Given the description of an element on the screen output the (x, y) to click on. 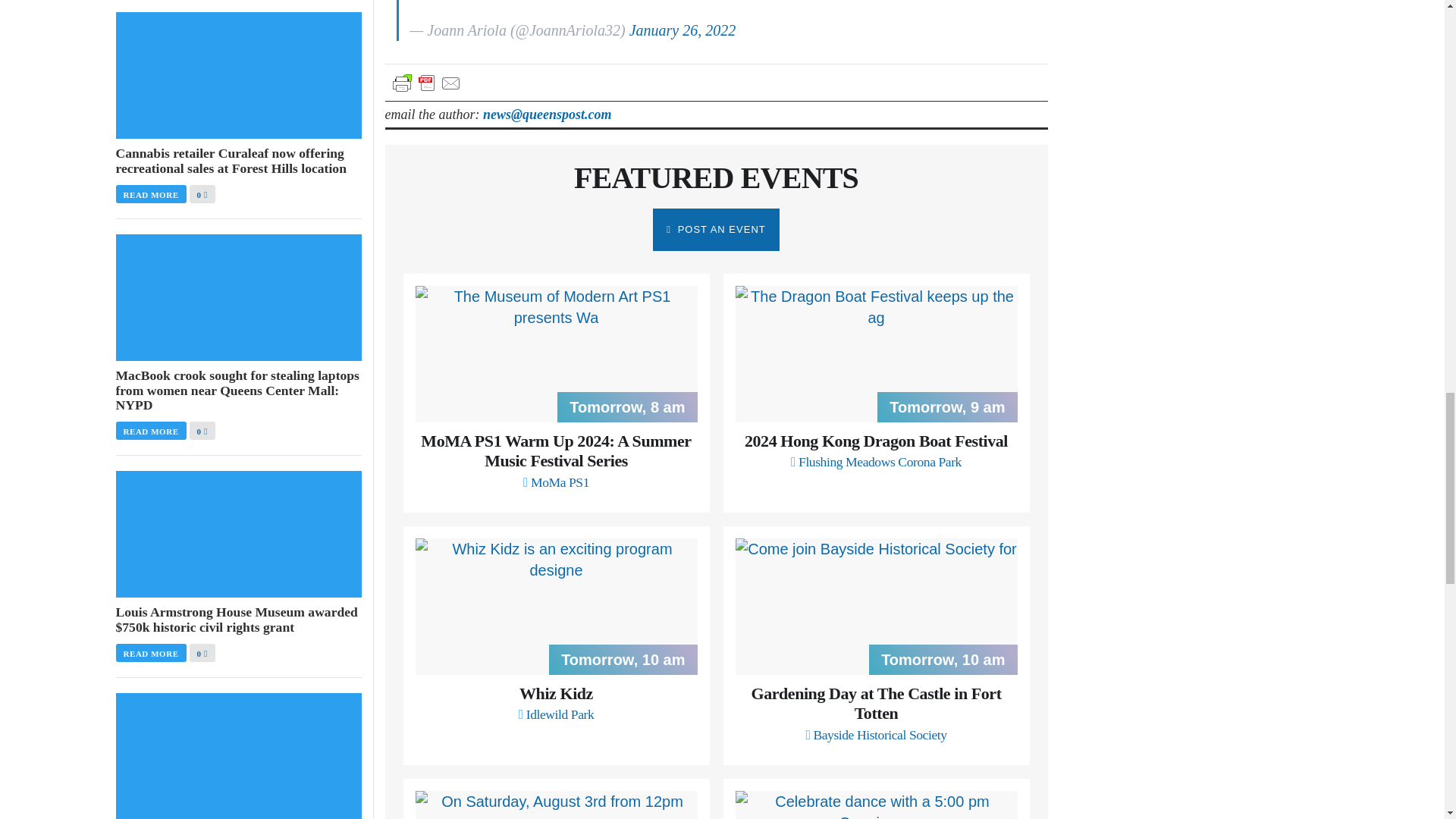
POST AN EVENT (715, 229)
FEATURED EVENTS (716, 177)
January 26, 2022 (682, 30)
